Given the description of an element on the screen output the (x, y) to click on. 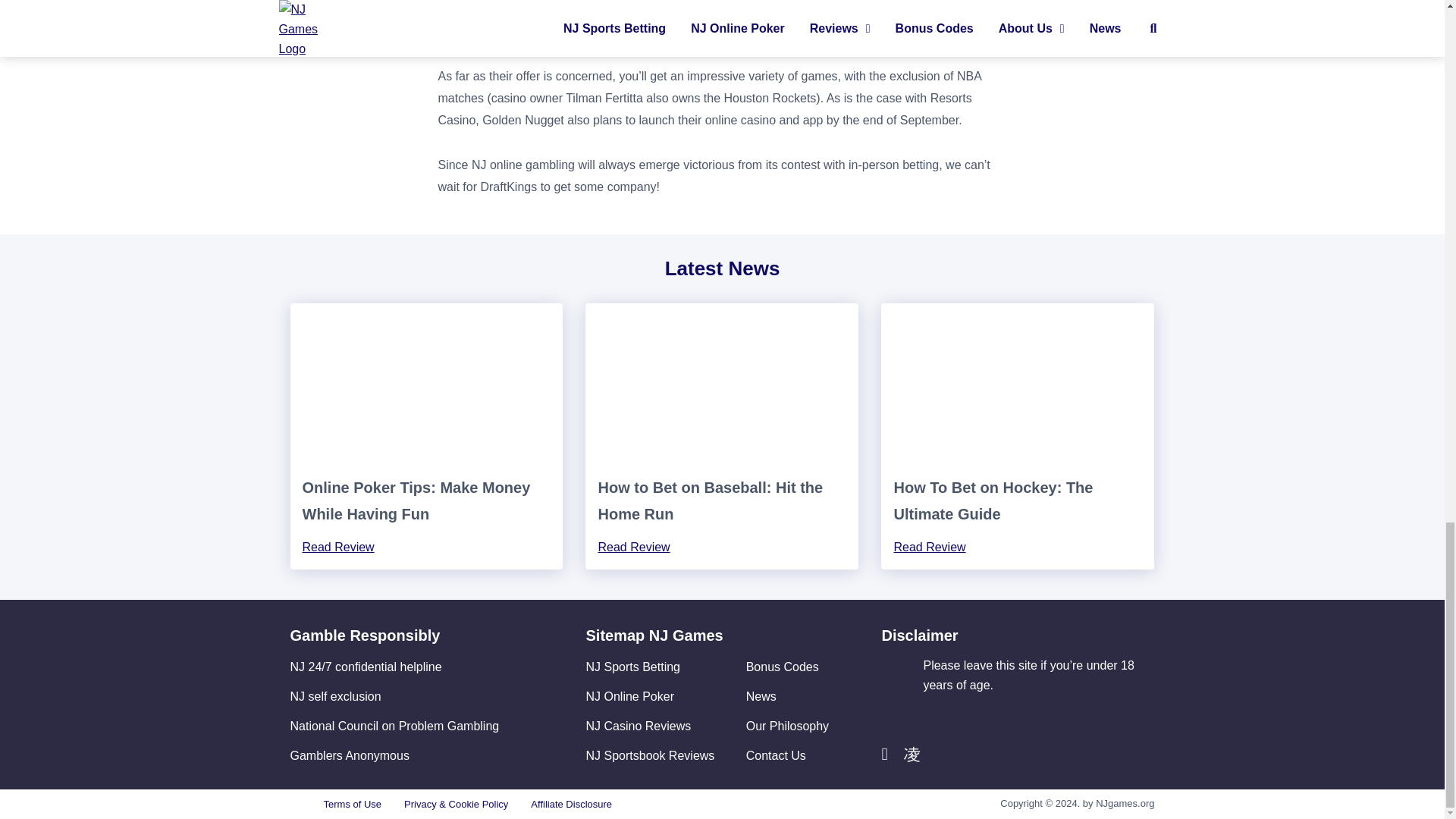
How To Bet on Hockey: The Ultimate Guide (993, 500)
NJ Sports Betting (632, 666)
How to Bet on Baseball: Hit the Home Run (709, 500)
Read Review (929, 546)
Read Review (632, 546)
Read Review (337, 546)
Online Poker Tips: Make Money While Having Fun (425, 382)
National Council on Problem Gambling (394, 725)
How To Bet on Hockey: The Ultimate Guide (993, 500)
NJ Online Poker (629, 696)
